Given the description of an element on the screen output the (x, y) to click on. 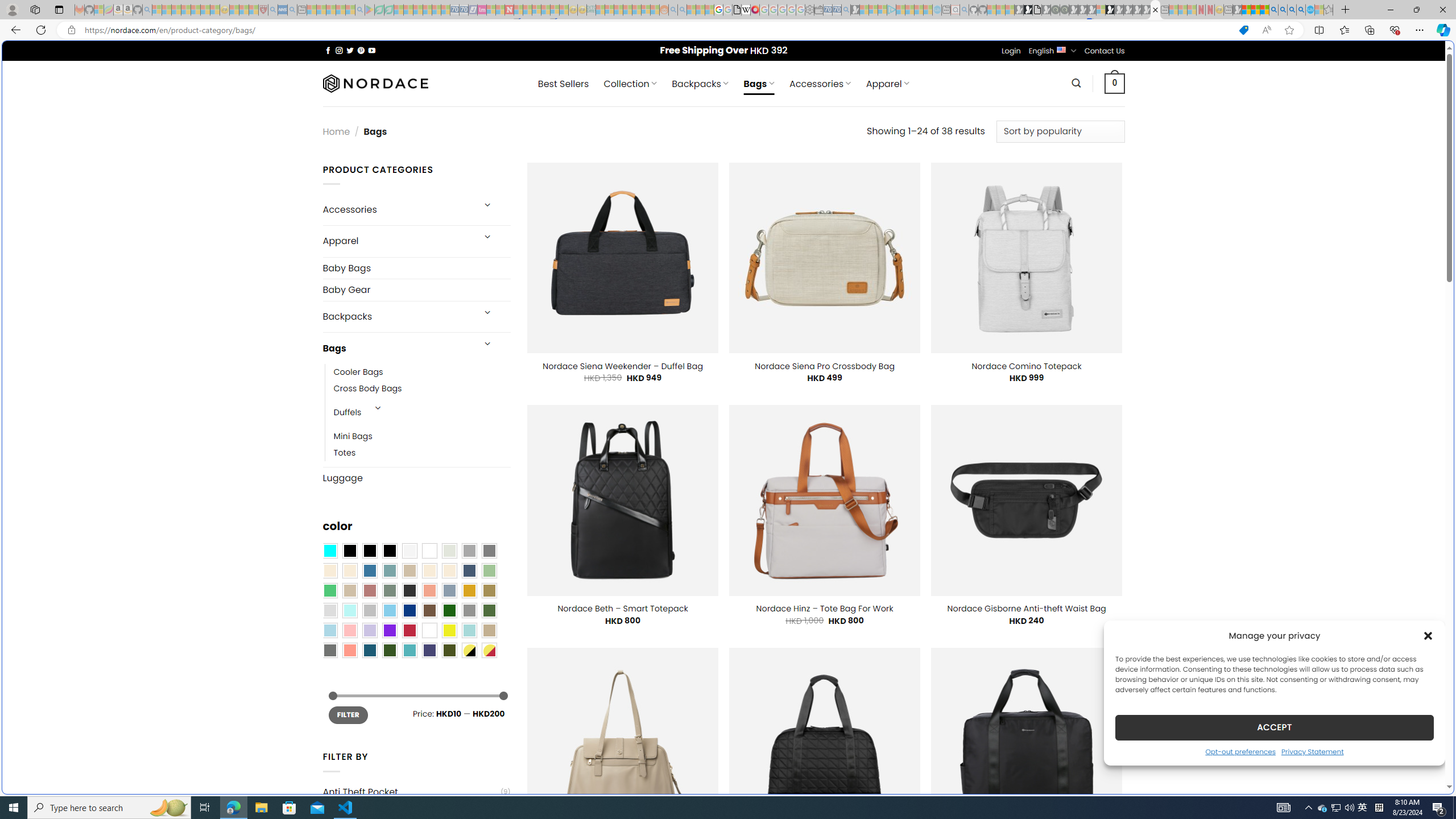
Follow on Facebook (327, 49)
Khaki (488, 630)
Backpacks (397, 316)
Target page - Wikipedia (745, 9)
Red (408, 630)
utah sues federal government - Search (922, 389)
 Best Sellers (563, 83)
Baby Bags (416, 268)
